Given the description of an element on the screen output the (x, y) to click on. 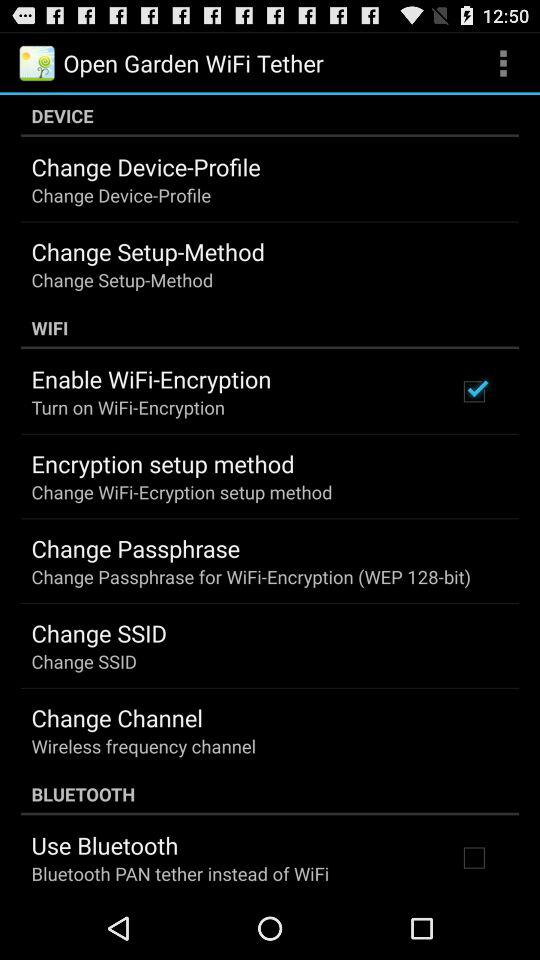
turn off the icon below change channel item (143, 745)
